Given the description of an element on the screen output the (x, y) to click on. 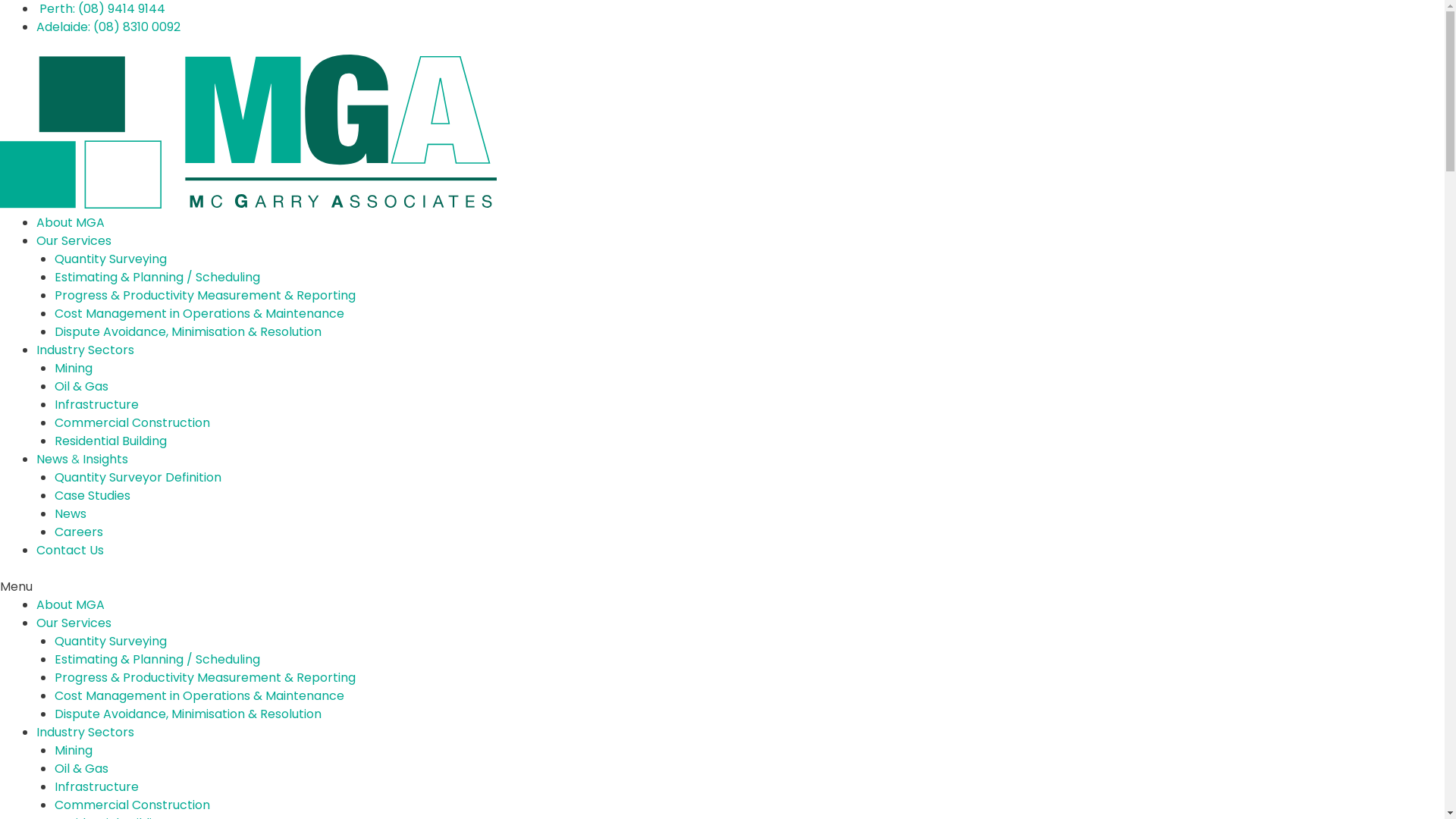
Dispute Avoidance, Minimisation & Resolution Element type: text (187, 713)
Our Services Element type: text (73, 240)
Cost Management in Operations & Maintenance Element type: text (199, 313)
Dispute Avoidance, Minimisation & Resolution Element type: text (187, 331)
Estimating & Planning / Scheduling Element type: text (157, 276)
Oil & Gas Element type: text (81, 768)
News & Insights Element type: text (82, 458)
Industry Sectors Element type: text (85, 731)
Infrastructure Element type: text (96, 404)
Quantity Surveying Element type: text (110, 258)
Progress & Productivity Measurement & Reporting Element type: text (204, 677)
Commercial Construction Element type: text (132, 422)
Infrastructure Element type: text (96, 786)
Quantity Surveyor Definition Element type: text (137, 477)
Mining Element type: text (73, 750)
Oil & Gas Element type: text (81, 386)
Perth: (08) 9414 9144 Element type: text (100, 8)
Commercial Construction Element type: text (132, 804)
Careers Element type: text (78, 531)
Quantity Surveying Element type: text (110, 640)
Progress & Productivity Measurement & Reporting Element type: text (204, 295)
Contact Us Element type: text (69, 549)
Adelaide: (08) 8310 0092 Element type: text (108, 26)
Residential Building Element type: text (110, 440)
About MGA Element type: text (70, 604)
Mining Element type: text (73, 367)
News Element type: text (70, 513)
Industry Sectors Element type: text (85, 349)
Estimating & Planning / Scheduling Element type: text (157, 659)
About MGA Element type: text (70, 222)
Our Services Element type: text (73, 622)
Cost Management in Operations & Maintenance Element type: text (199, 695)
Case Studies Element type: text (92, 495)
